Given the description of an element on the screen output the (x, y) to click on. 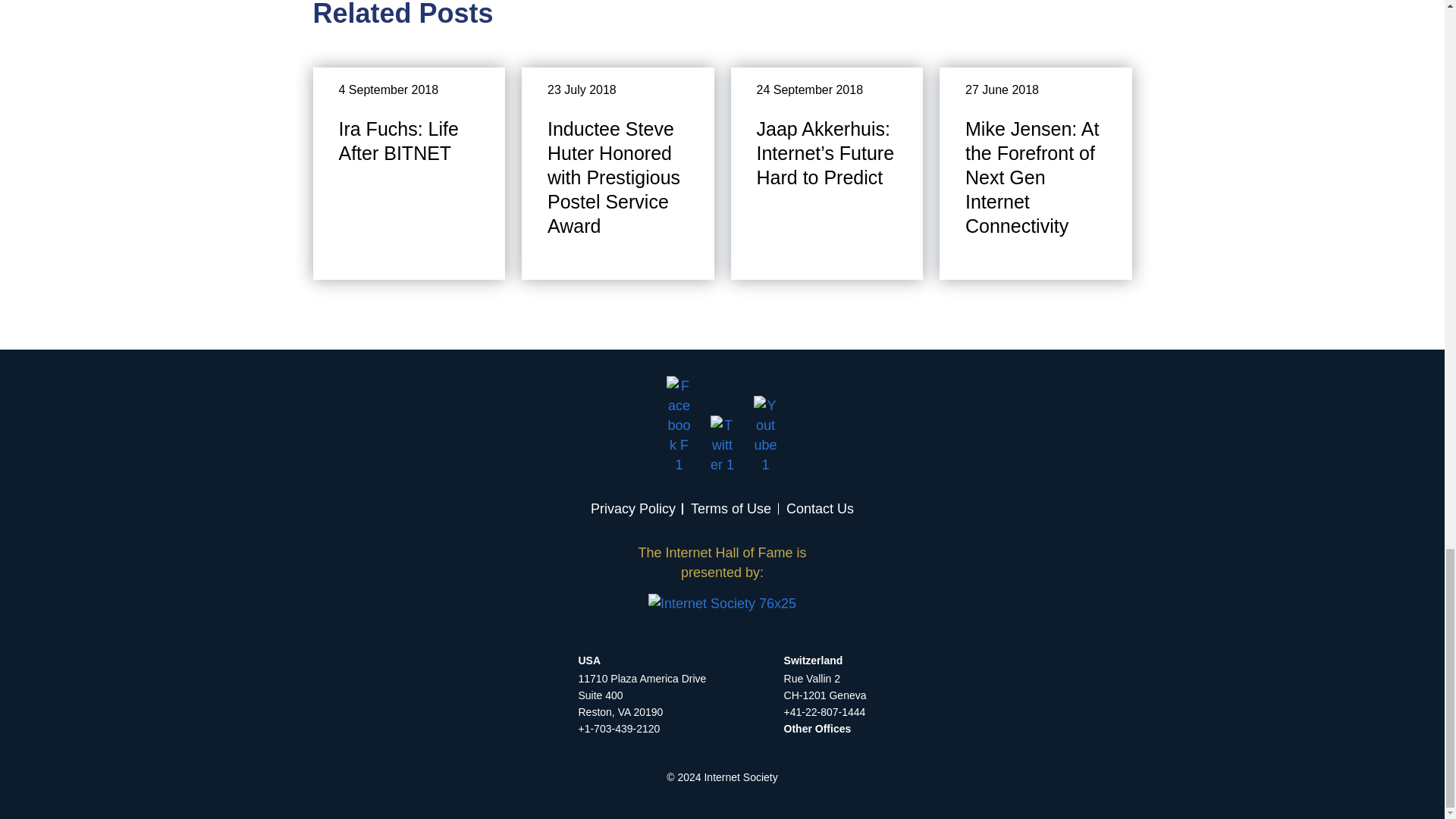
Privacy Policy (633, 508)
Terms of Use (730, 508)
Contact Us (819, 508)
Other Offices (817, 728)
